Given the description of an element on the screen output the (x, y) to click on. 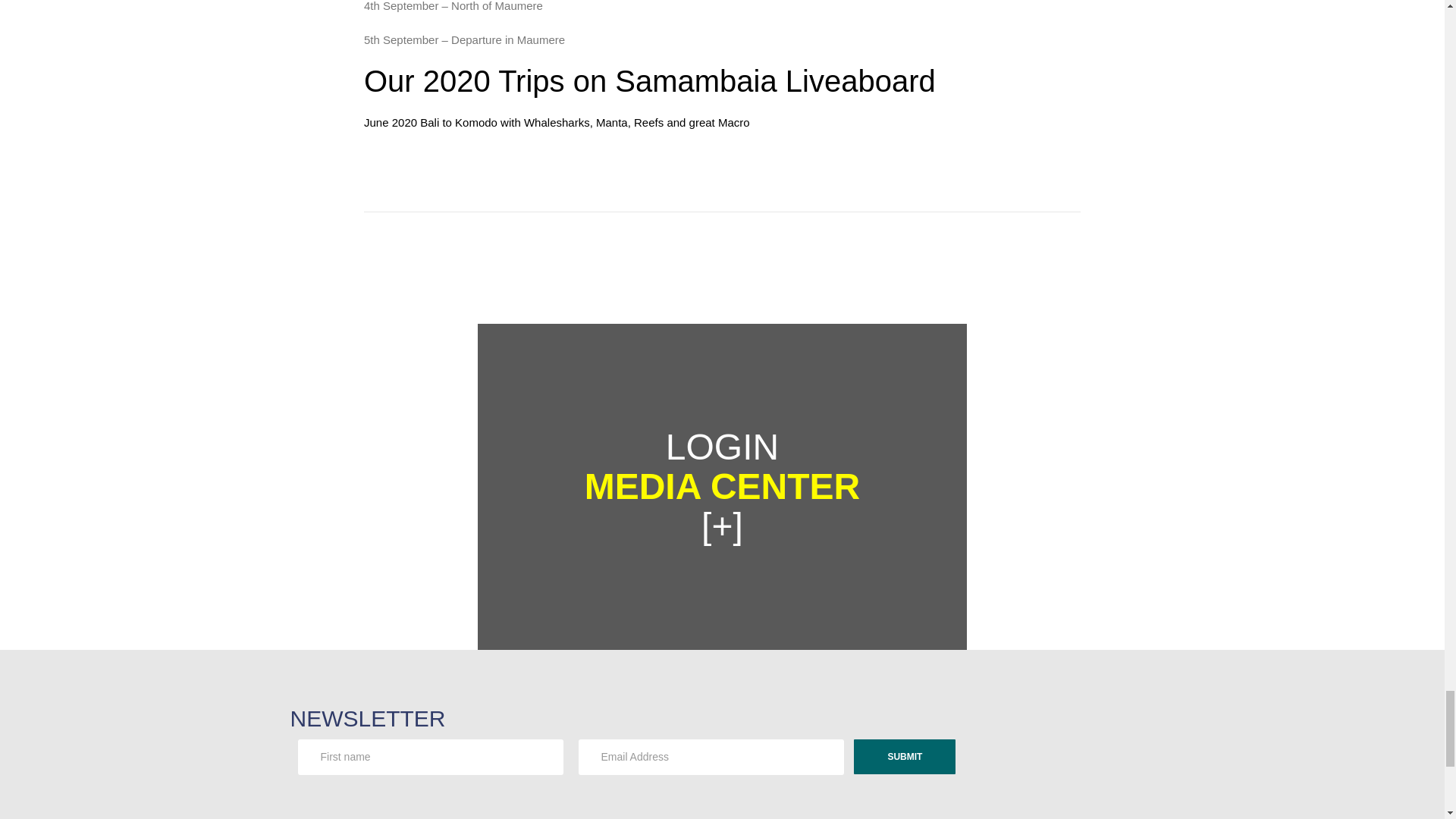
Submit (904, 756)
